Given the description of an element on the screen output the (x, y) to click on. 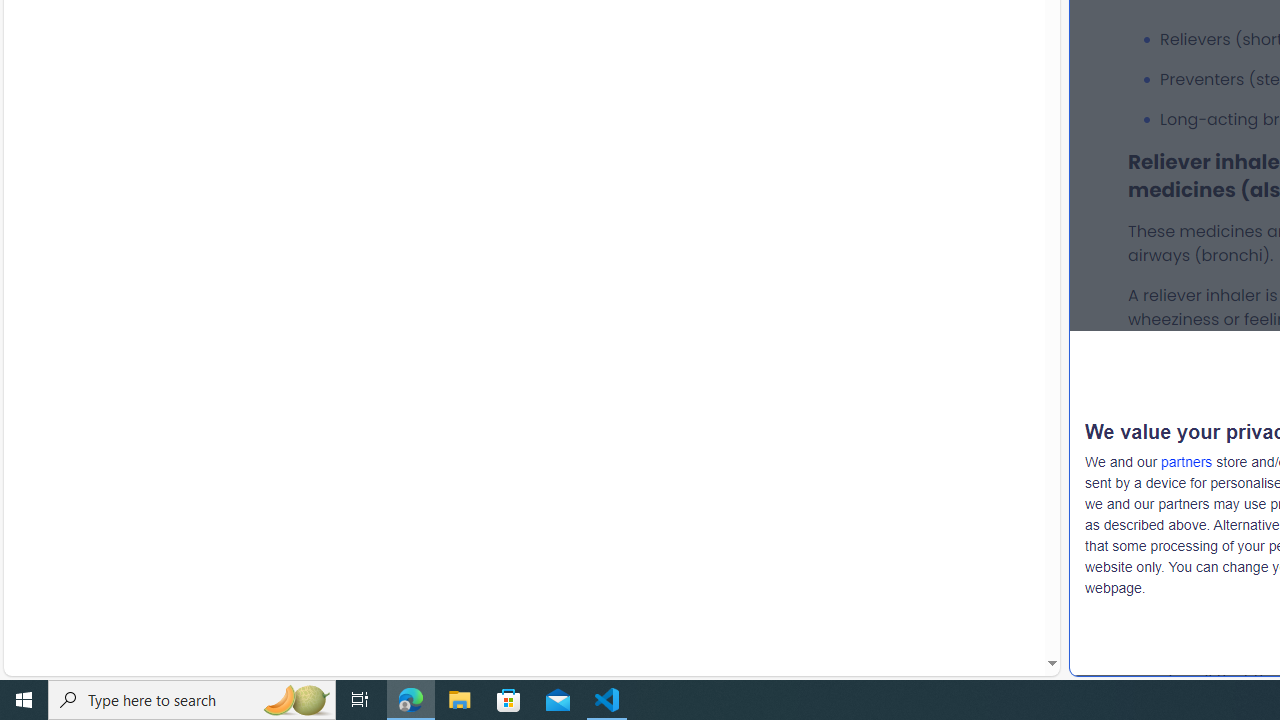
partners (1186, 461)
